Given the description of an element on the screen output the (x, y) to click on. 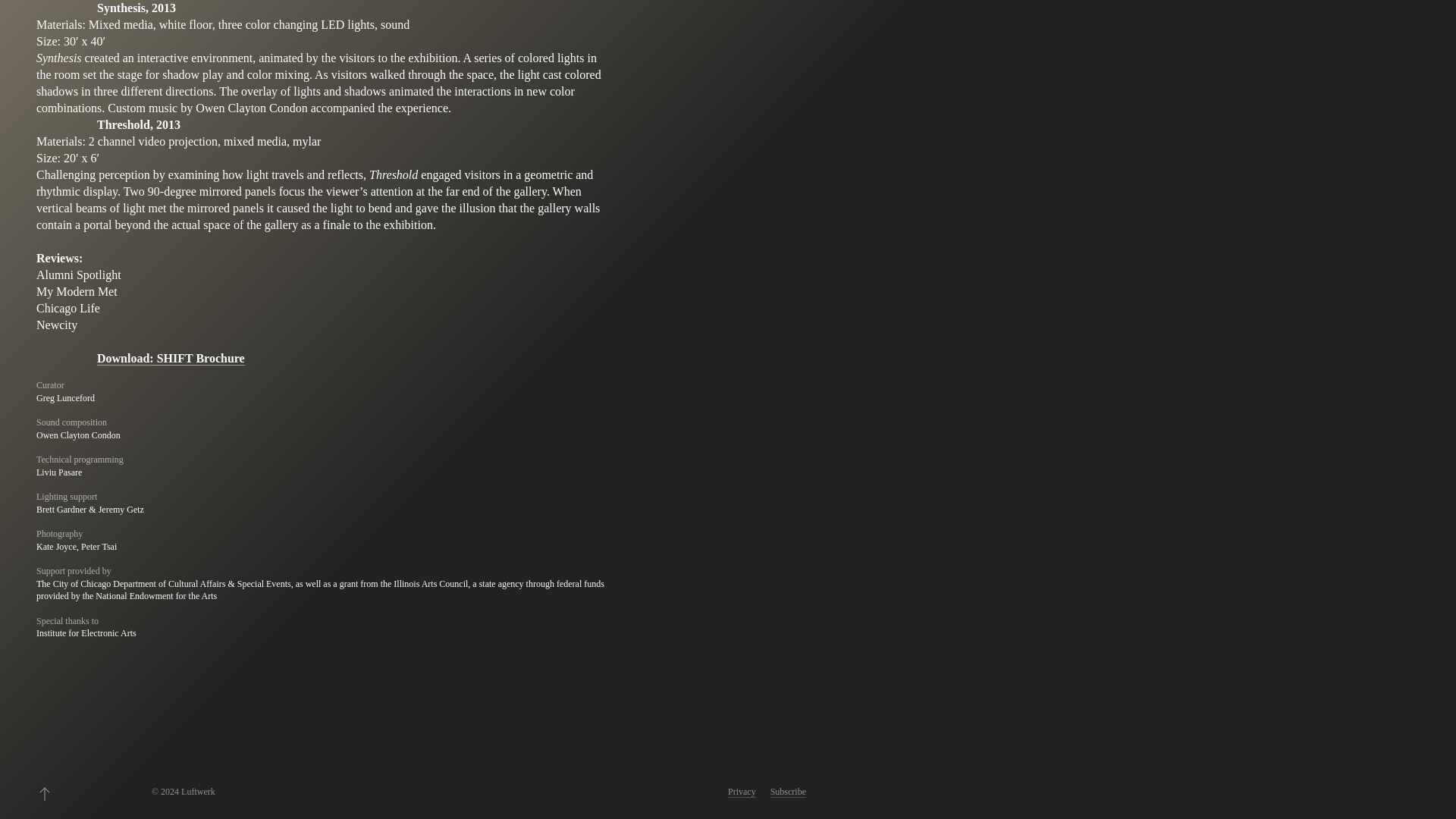
Newcity (56, 324)
Privacy (741, 791)
To Top (44, 793)
Subscribe (788, 791)
My Modern Met (76, 291)
Download: SHIFT Brochure (170, 358)
Alumni Spotlight (78, 274)
Chicago Life (68, 308)
